Given the description of an element on the screen output the (x, y) to click on. 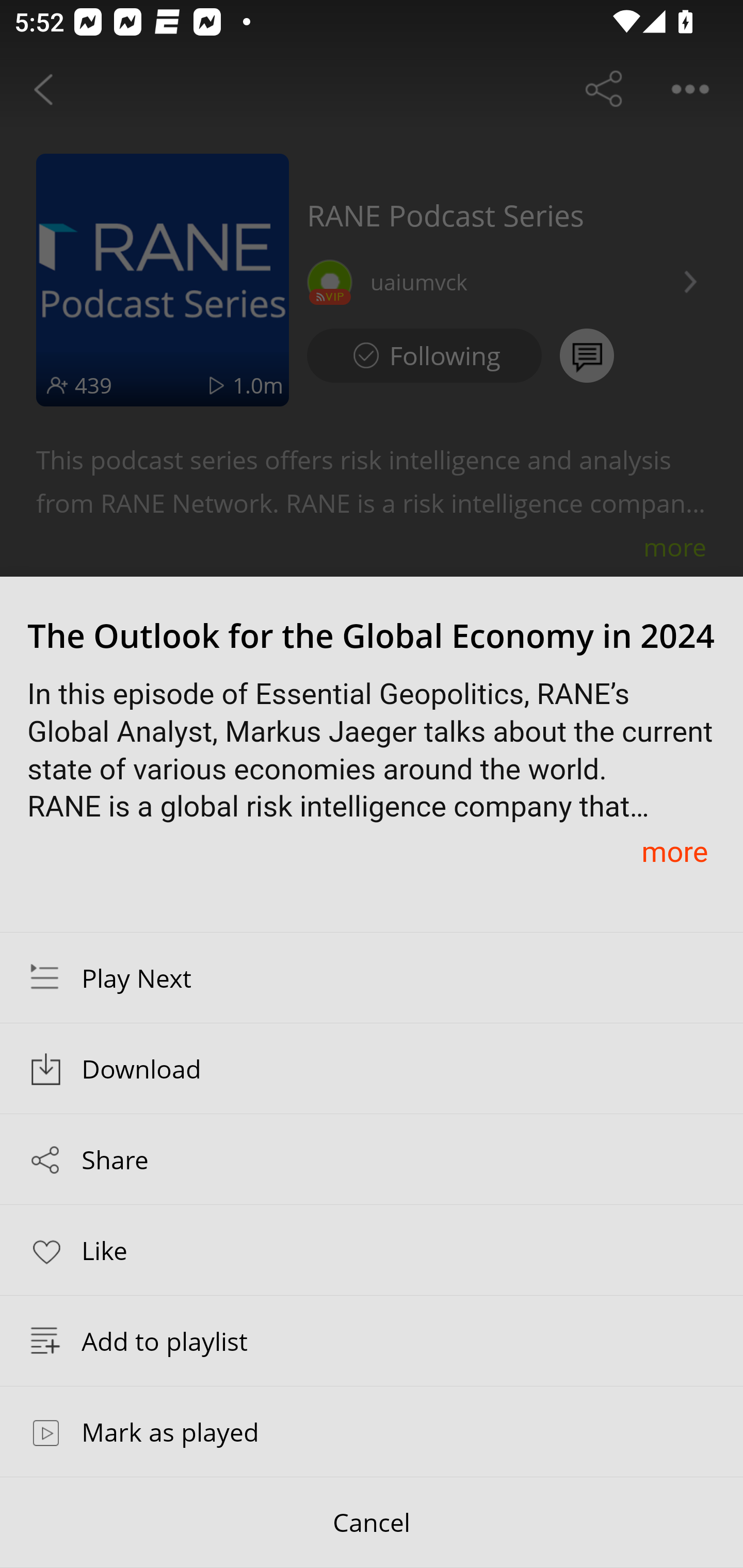
more (674, 851)
Play Next (371, 977)
Download (371, 1068)
Share (371, 1159)
Like (371, 1249)
Add to playlist (371, 1340)
Mark as played (371, 1431)
Cancel (371, 1522)
